Given the description of an element on the screen output the (x, y) to click on. 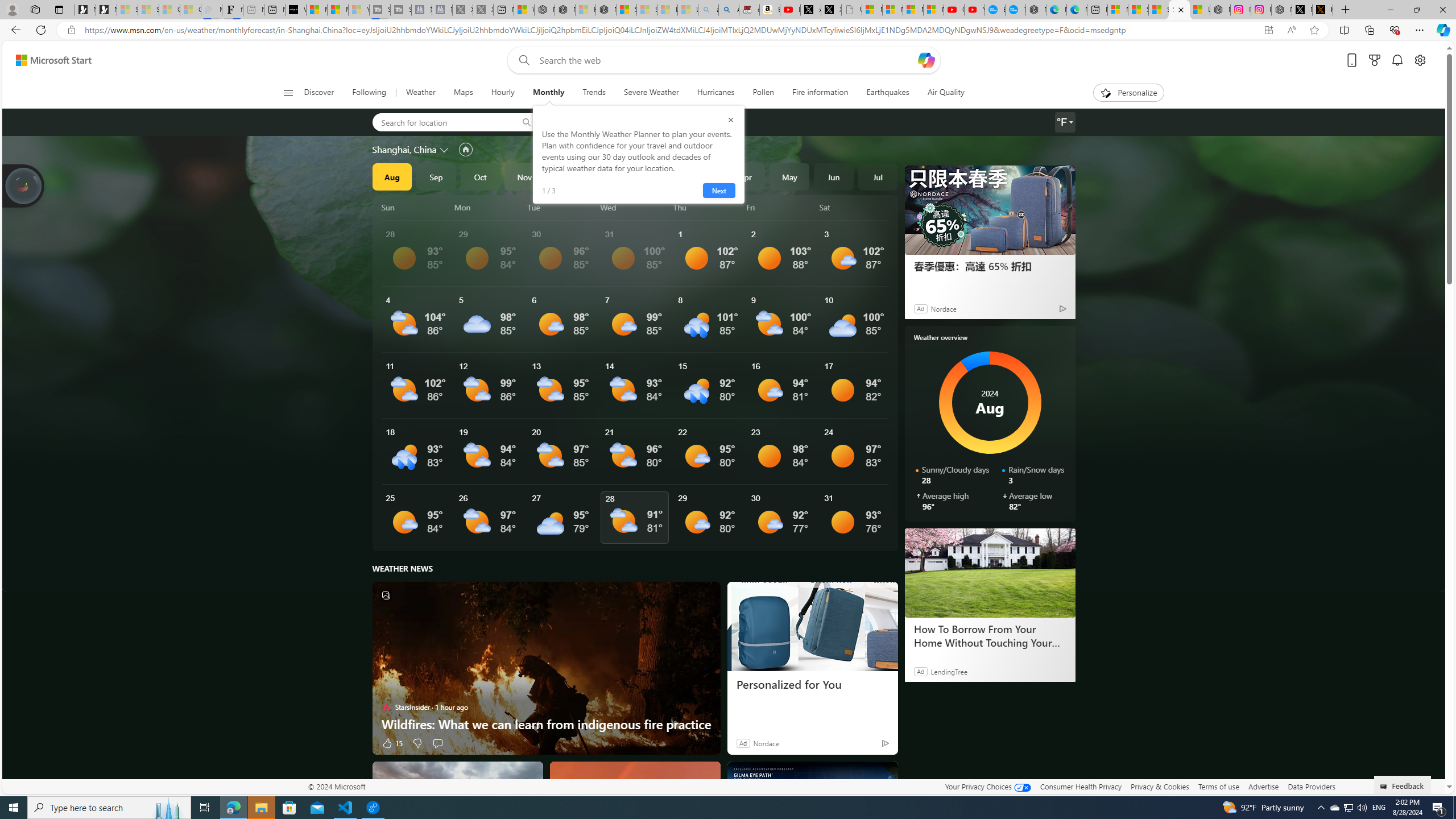
App available. Install Microsoft Start Weather (1268, 29)
Jul (877, 176)
Nordace - Nordace Siena Is Not An Ordinary Backpack (606, 9)
Hurricanes (715, 92)
Earthquakes (888, 92)
Dec (568, 176)
